Given the description of an element on the screen output the (x, y) to click on. 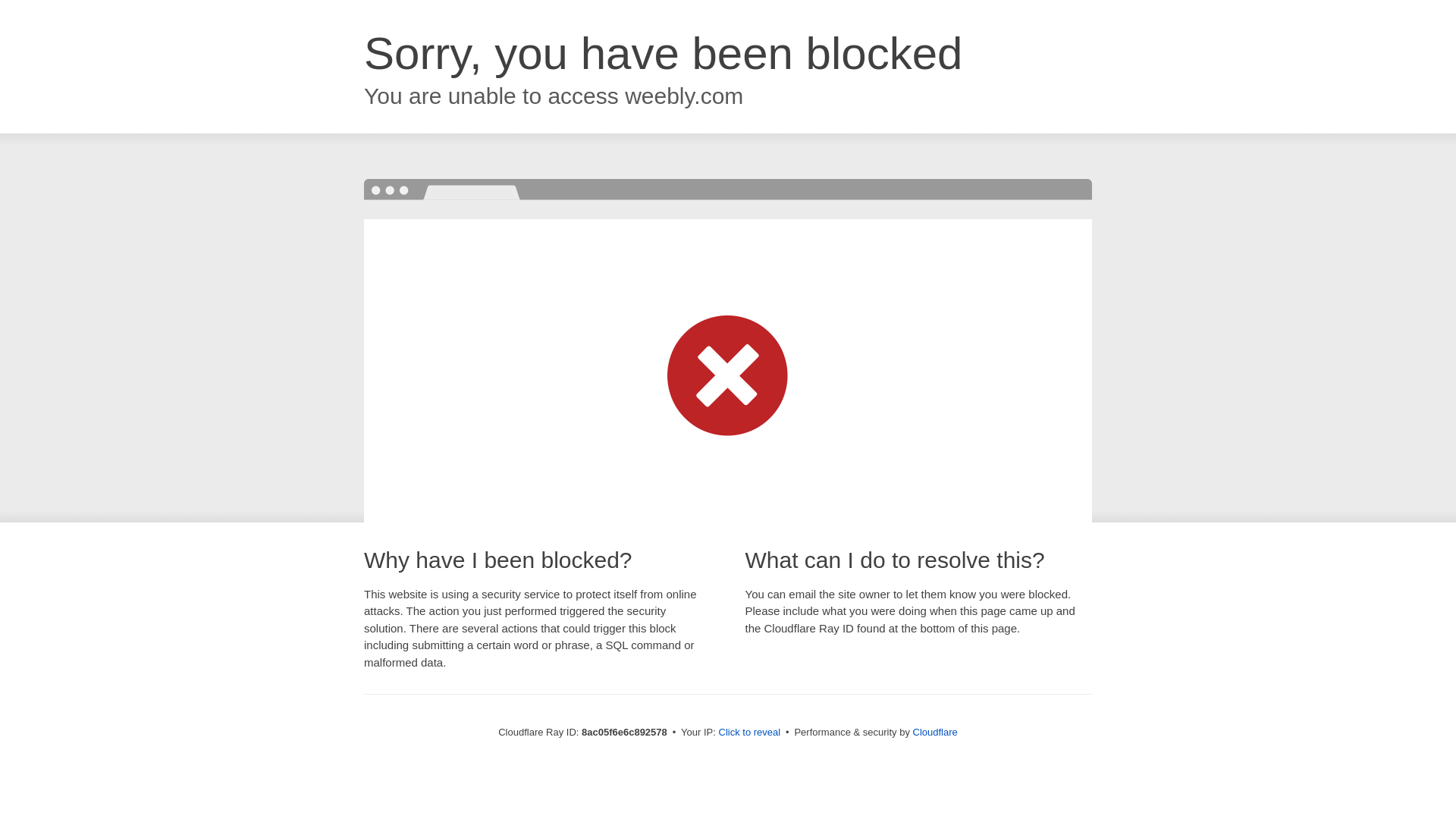
Click to reveal (749, 732)
Cloudflare (935, 731)
